Given the description of an element on the screen output the (x, y) to click on. 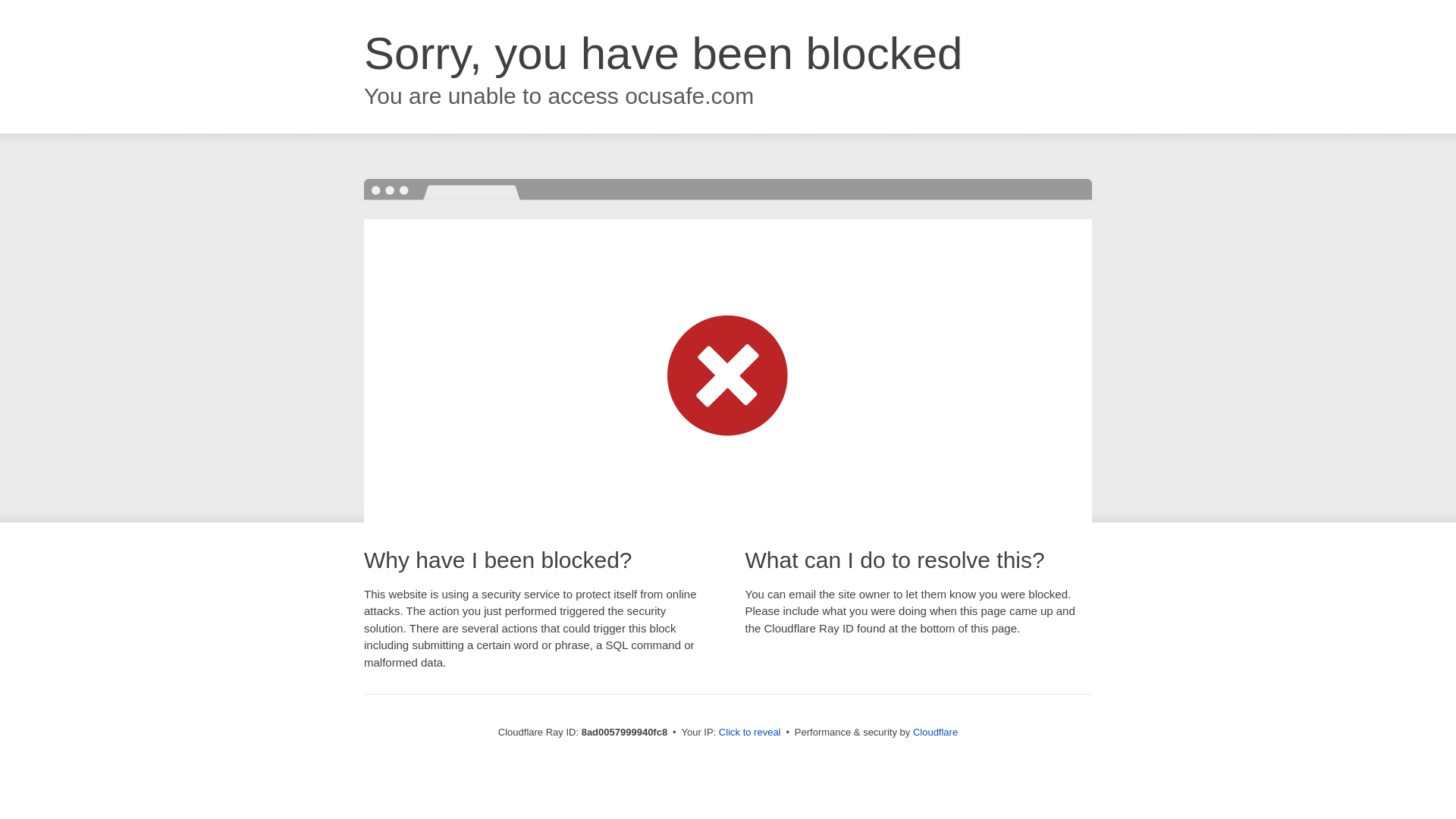
Cloudflare (935, 731)
Click to reveal (749, 732)
